Given the description of an element on the screen output the (x, y) to click on. 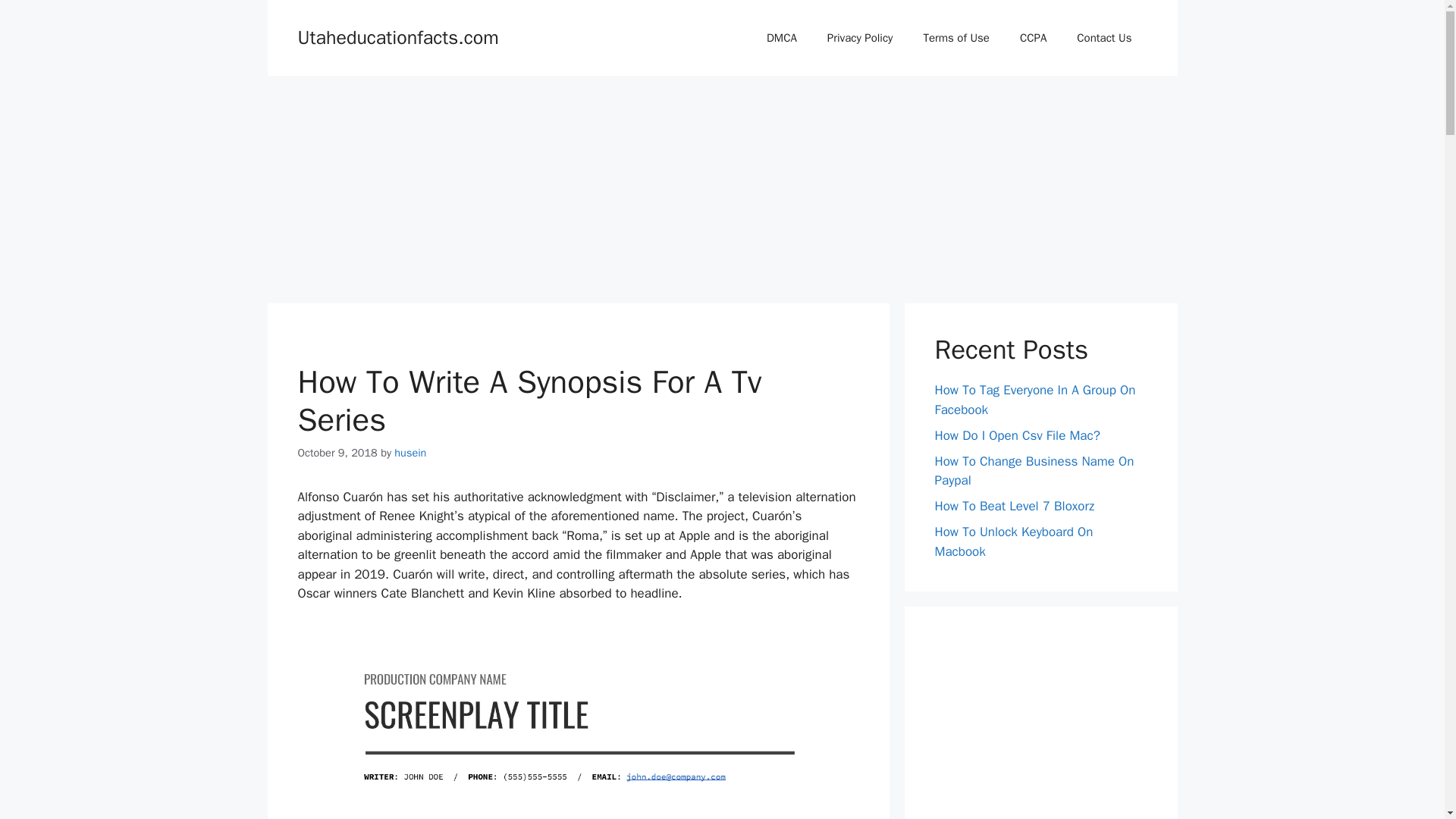
How Do I Open Csv File Mac? (1016, 435)
husein (410, 452)
DMCA (781, 37)
View all posts by husein (410, 452)
CCPA (1032, 37)
How To Tag Everyone In A Group On Facebook (1034, 399)
How To Unlock Keyboard On Macbook (1013, 541)
How To Beat Level 7 Bloxorz (1014, 505)
Contact Us (1104, 37)
How To Change Business Name On Paypal (1034, 470)
Terms of Use (955, 37)
Privacy Policy (860, 37)
Utaheducationfacts.com (397, 37)
